Given the description of an element on the screen output the (x, y) to click on. 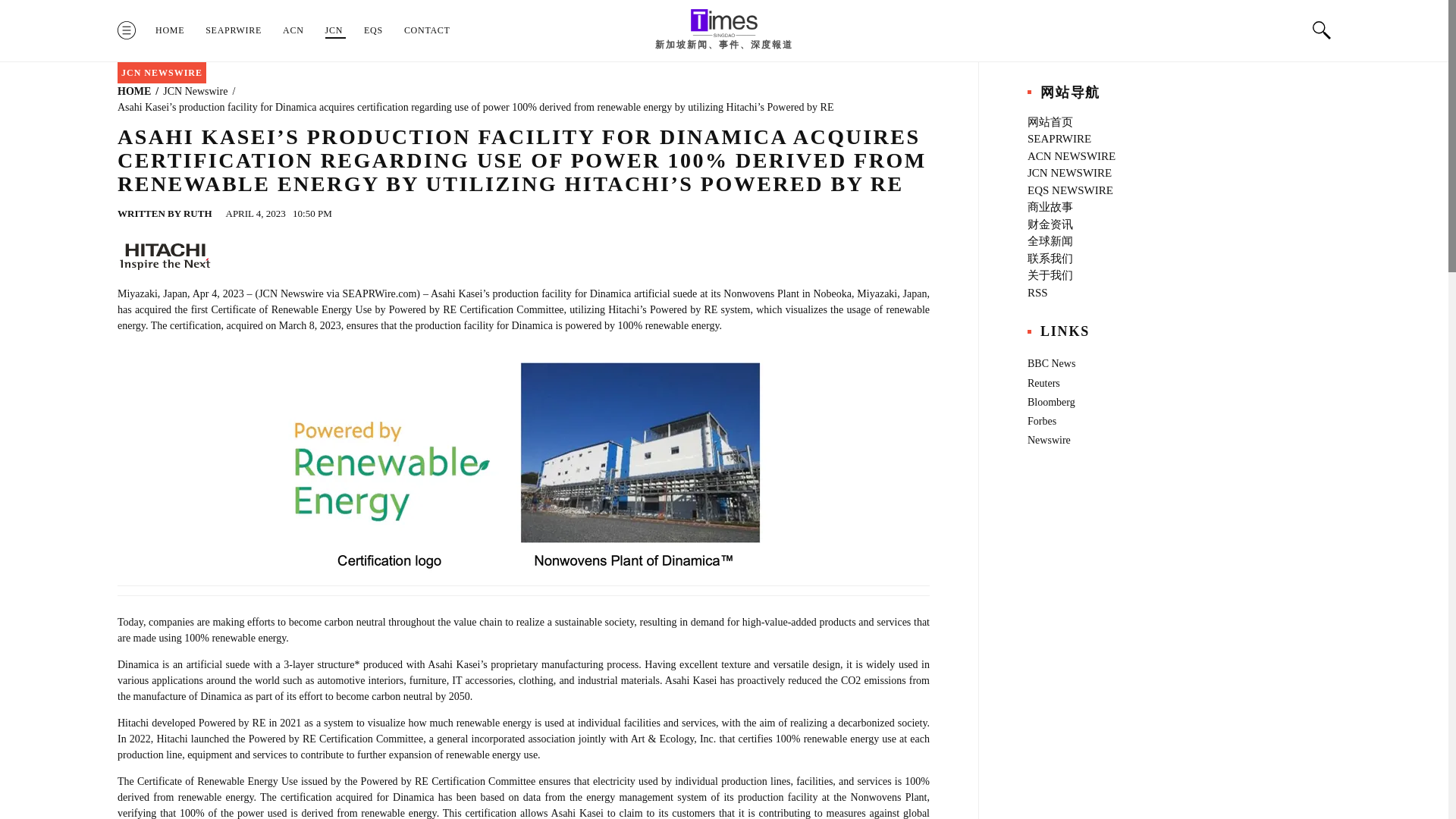
CONTACT (427, 29)
MENU (126, 30)
JCN (334, 29)
HOME (170, 29)
HOME (134, 91)
ACN (293, 29)
JCN Newswire (195, 91)
RUTH (197, 213)
APRIL 4, 2023 10:50 PM (280, 213)
SEAPRWIRE (233, 29)
JCN NEWSWIRE (161, 72)
EQS (373, 29)
